Given the description of an element on the screen output the (x, y) to click on. 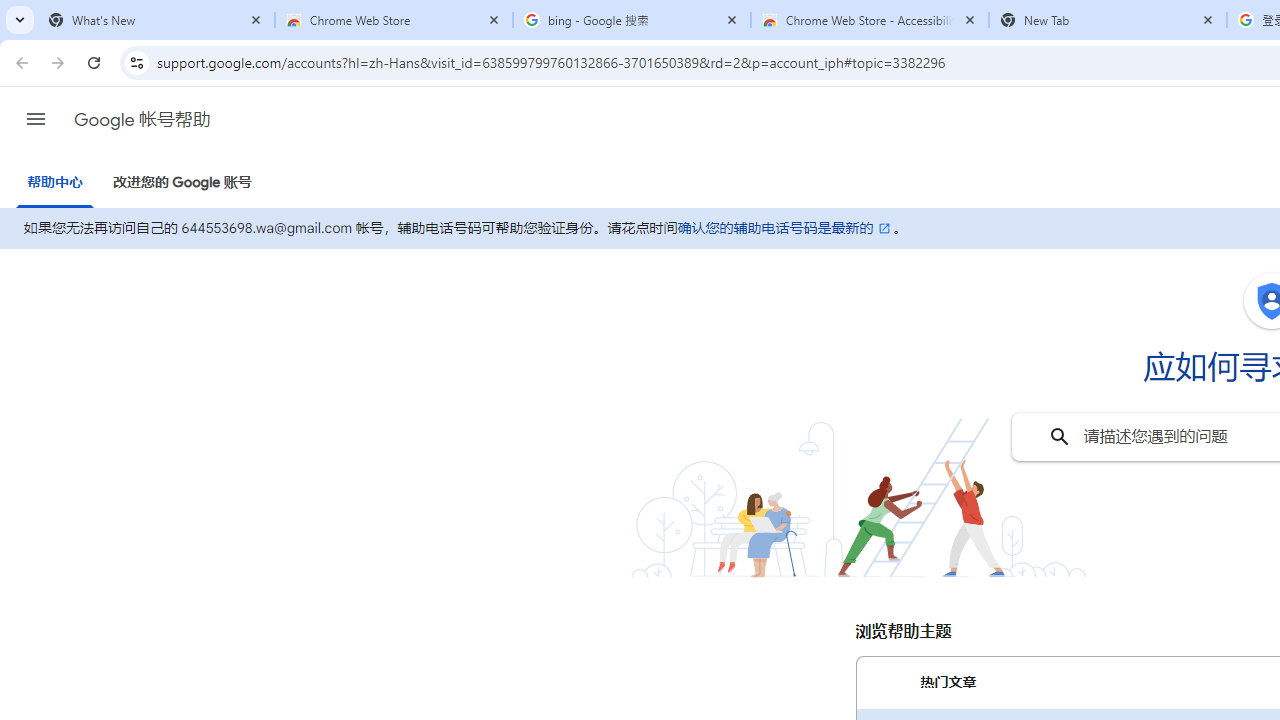
View site information (136, 62)
Chrome Web Store - Accessibility (870, 20)
Reload (93, 62)
New Tab (1108, 20)
Search tabs (20, 20)
What's New (156, 20)
